Given the description of an element on the screen output the (x, y) to click on. 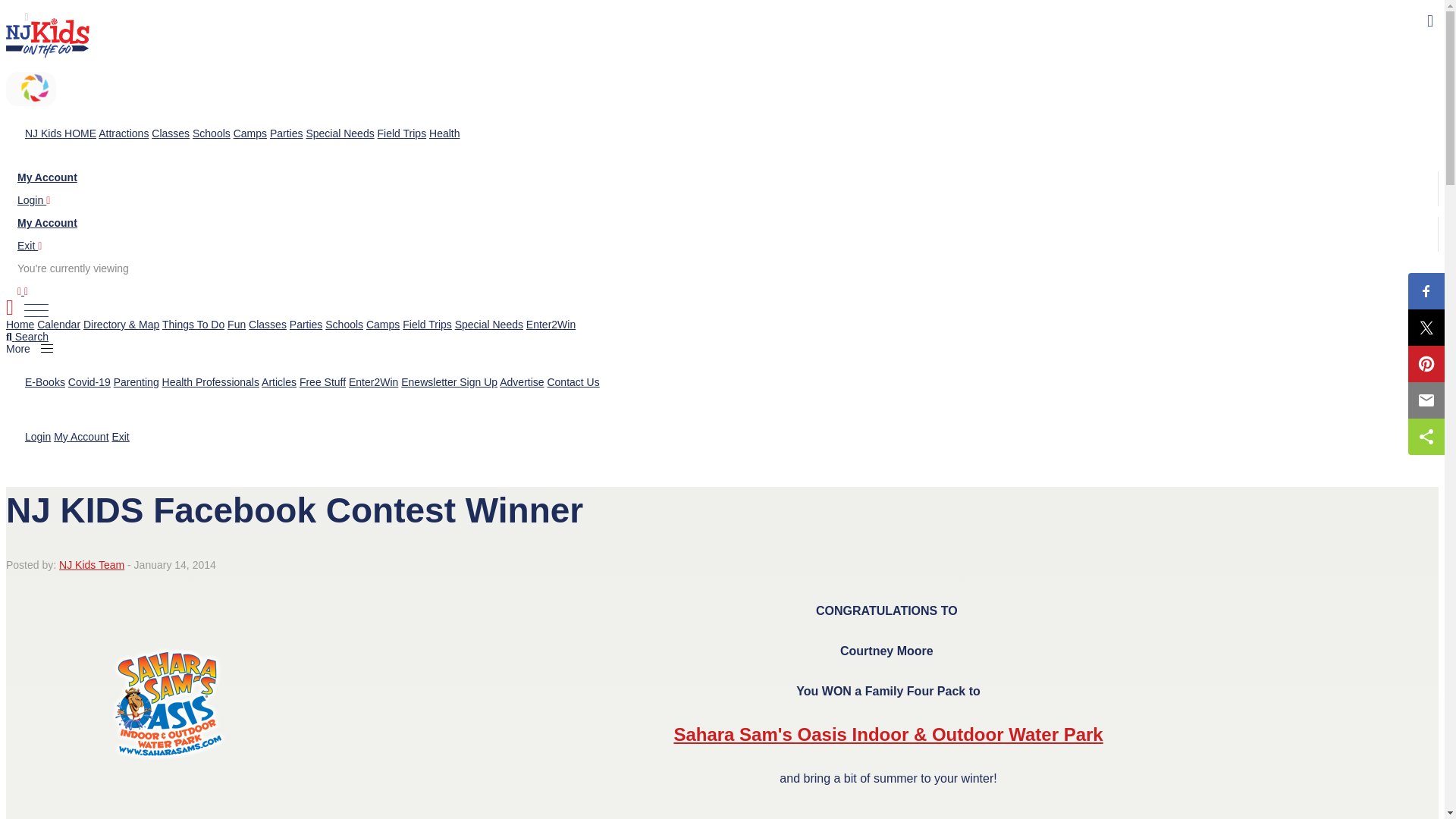
Health Professionals (210, 381)
Parties (306, 324)
Parties (285, 133)
Fun (236, 324)
Classes (170, 133)
E-Books (44, 381)
Camps (382, 324)
Search (26, 336)
Attractions (123, 133)
My Account (47, 223)
Free Stuff (322, 381)
Schools (211, 133)
Special Needs (488, 324)
Calendar (58, 324)
Classes (267, 324)
